Given the description of an element on the screen output the (x, y) to click on. 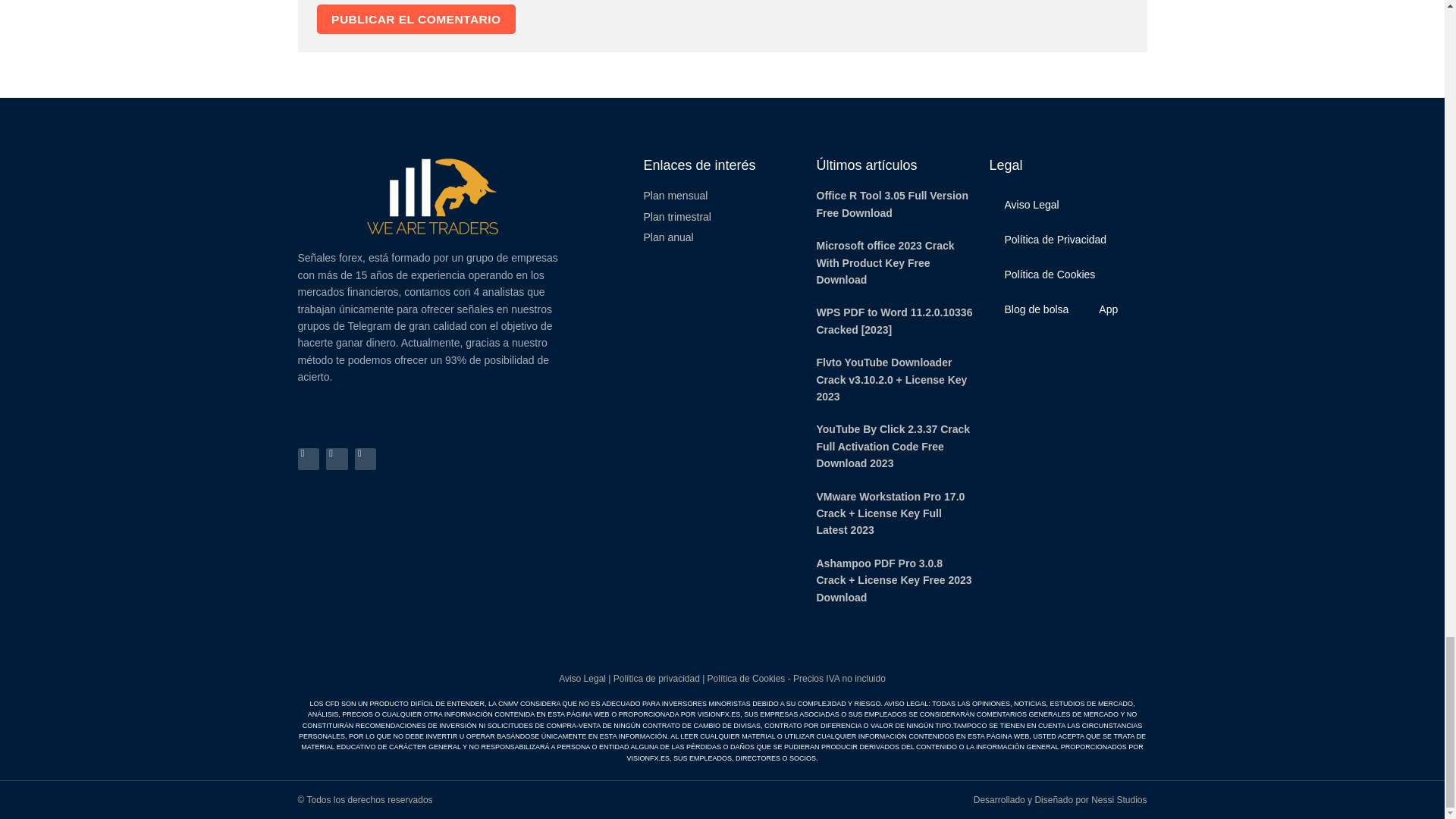
Publicar el comentario (416, 19)
Publicar el comentario (416, 19)
Plan anual (721, 237)
WE ARE TRADERS (431, 196)
Plan trimestral (721, 216)
Plan mensual (721, 195)
